Given the description of an element on the screen output the (x, y) to click on. 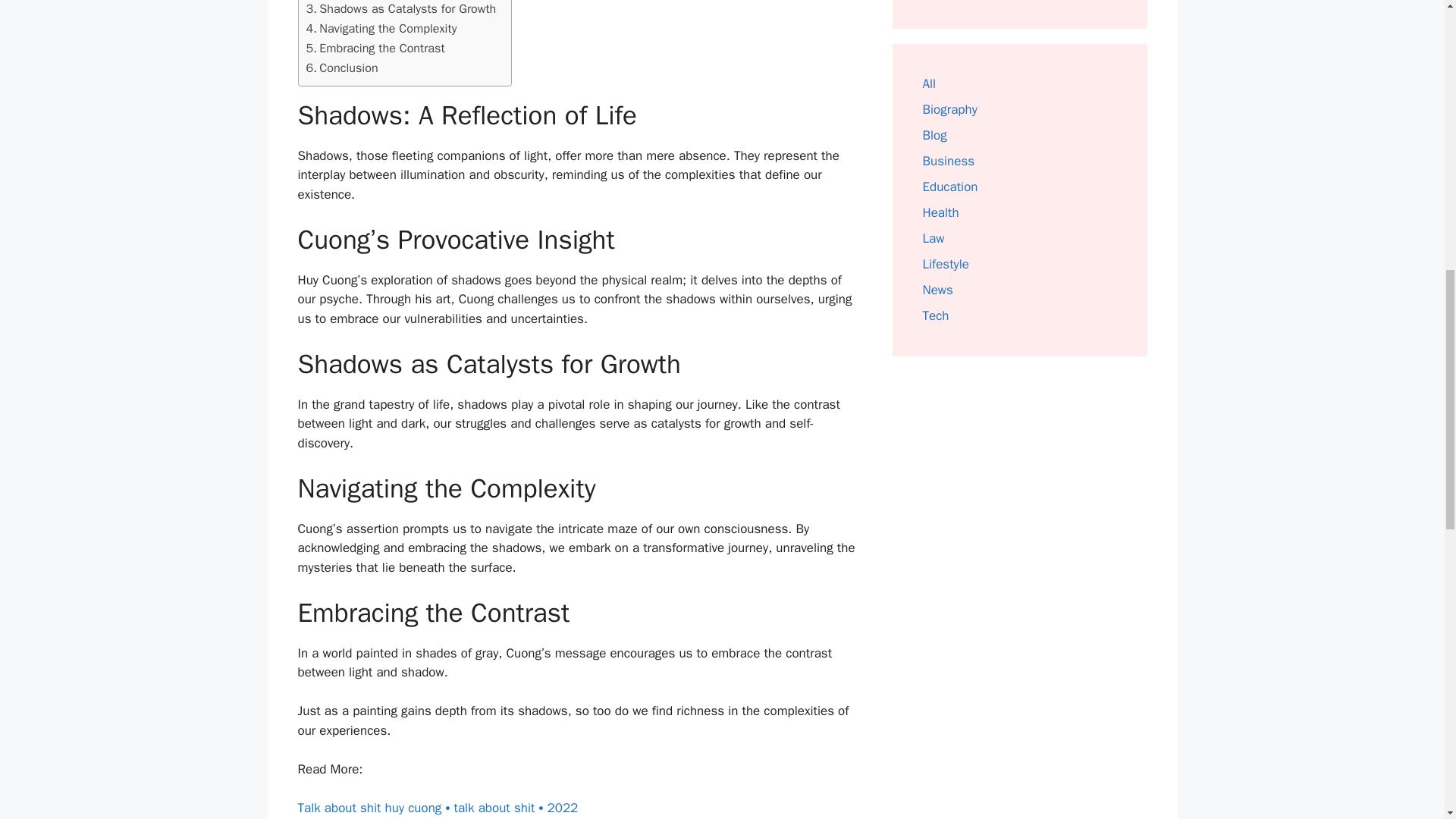
Navigating the Complexity (381, 28)
Scroll back to top (1406, 720)
Conclusion (341, 67)
Shadows as Catalysts for Growth (400, 9)
Embracing the Contrast (375, 48)
Embracing the Contrast (375, 48)
Conclusion (341, 67)
Biography (948, 109)
Shadows as Catalysts for Growth (400, 9)
Navigating the Complexity (381, 28)
Blog (933, 135)
